Given the description of an element on the screen output the (x, y) to click on. 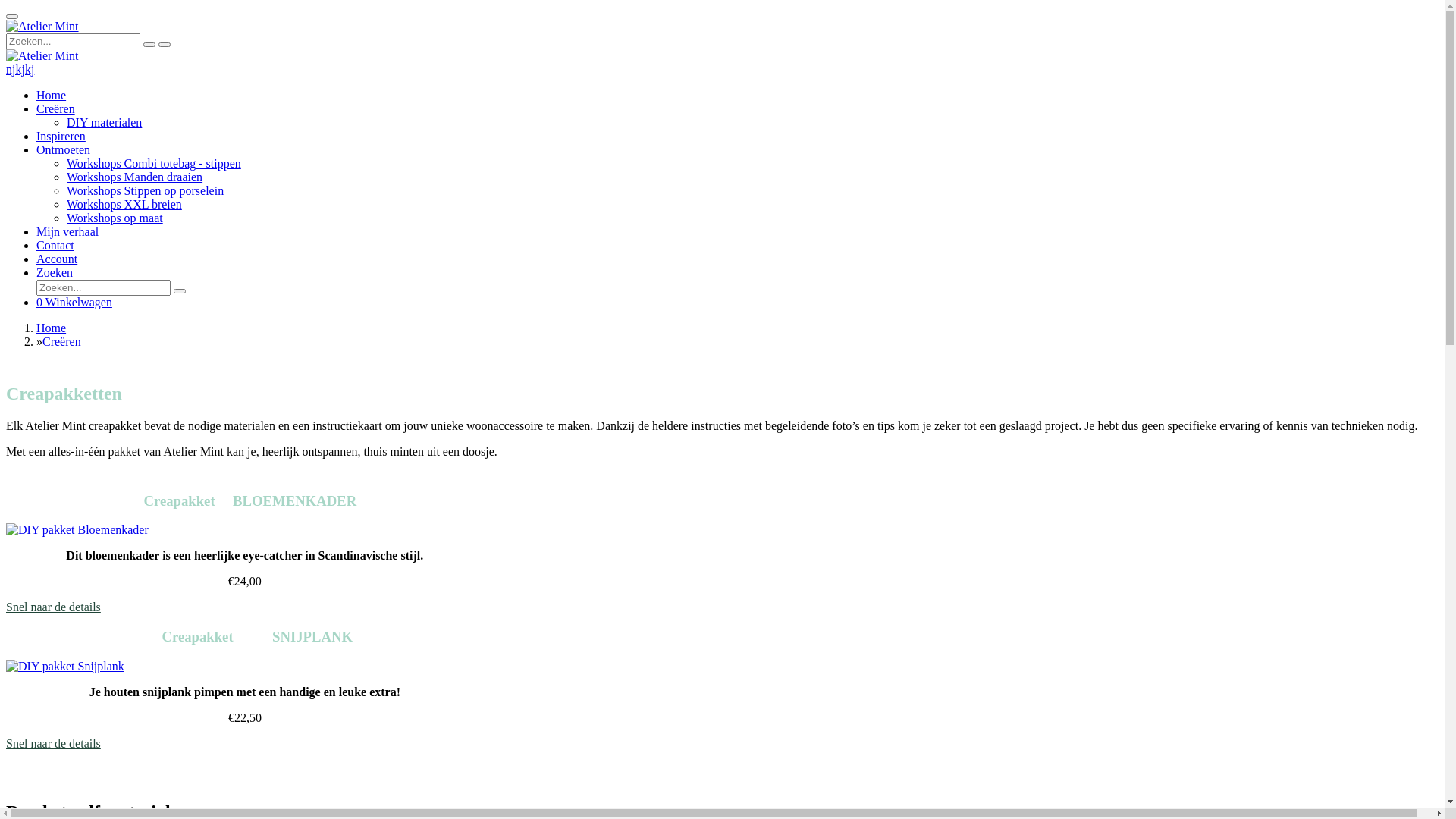
Snel naar de details Element type: text (244, 743)
Ontmoeten Element type: text (63, 149)
Account Element type: text (56, 258)
Snel naar de details Element type: text (244, 607)
DIY materialen Element type: text (103, 122)
Workshops Manden draaien Element type: text (134, 176)
0 Winkelwagen Element type: text (74, 301)
Workshops op maat Element type: text (114, 217)
Workshops XXL breien Element type: text (124, 203)
Home Element type: text (50, 327)
Atelier Mint Element type: hover (42, 26)
Contact Element type: text (55, 244)
Inspireren Element type: text (60, 135)
Home Element type: text (50, 94)
Atelier Mint Element type: hover (42, 55)
Workshops Stippen op porselein Element type: text (144, 190)
njkjkj Element type: text (20, 68)
Workshops Combi totebag - stippen Element type: text (153, 162)
Zoeken Element type: text (54, 272)
Mijn verhaal Element type: text (67, 231)
